Given the description of an element on the screen output the (x, y) to click on. 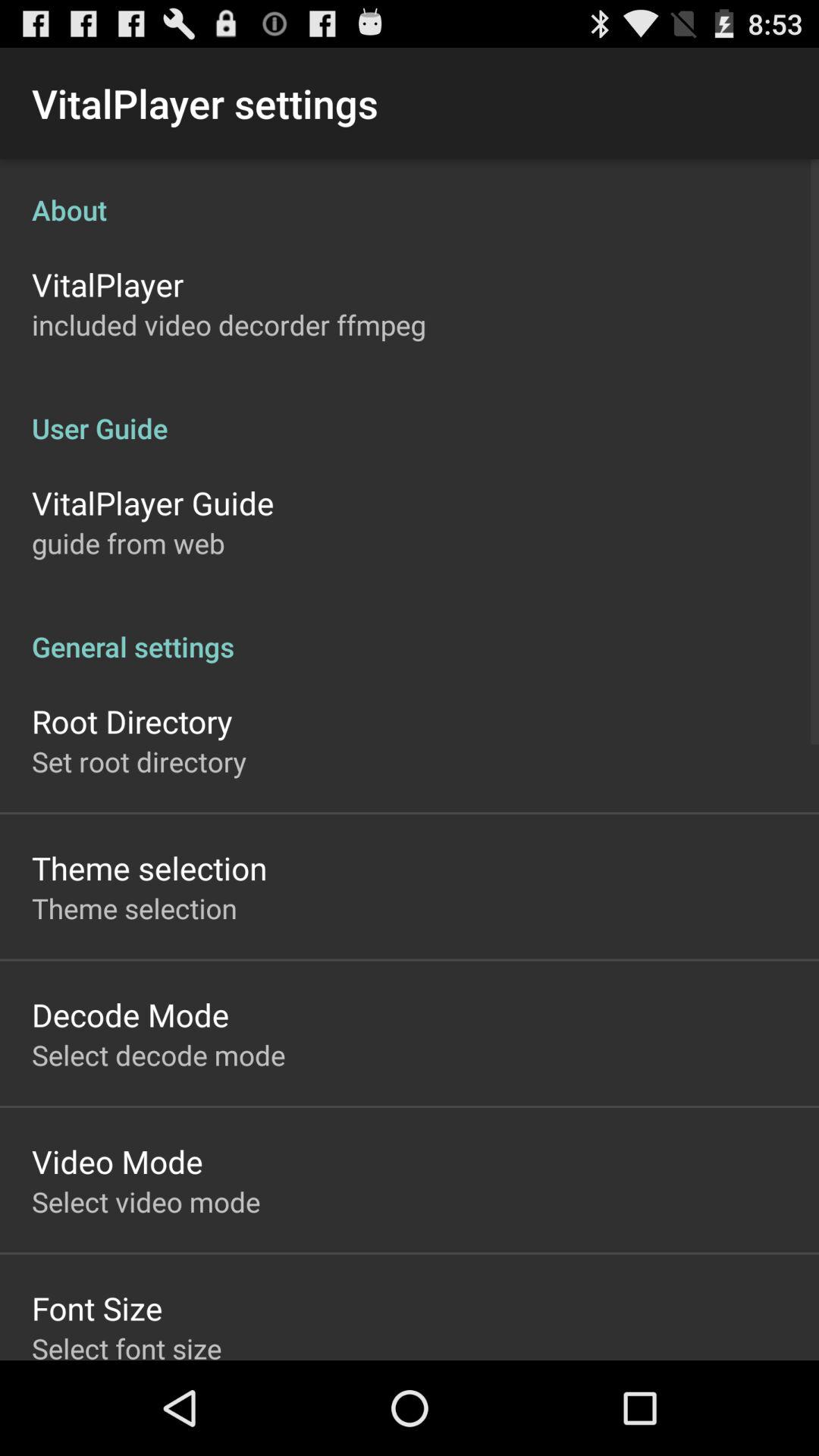
flip until the user guide icon (409, 412)
